Given the description of an element on the screen output the (x, y) to click on. 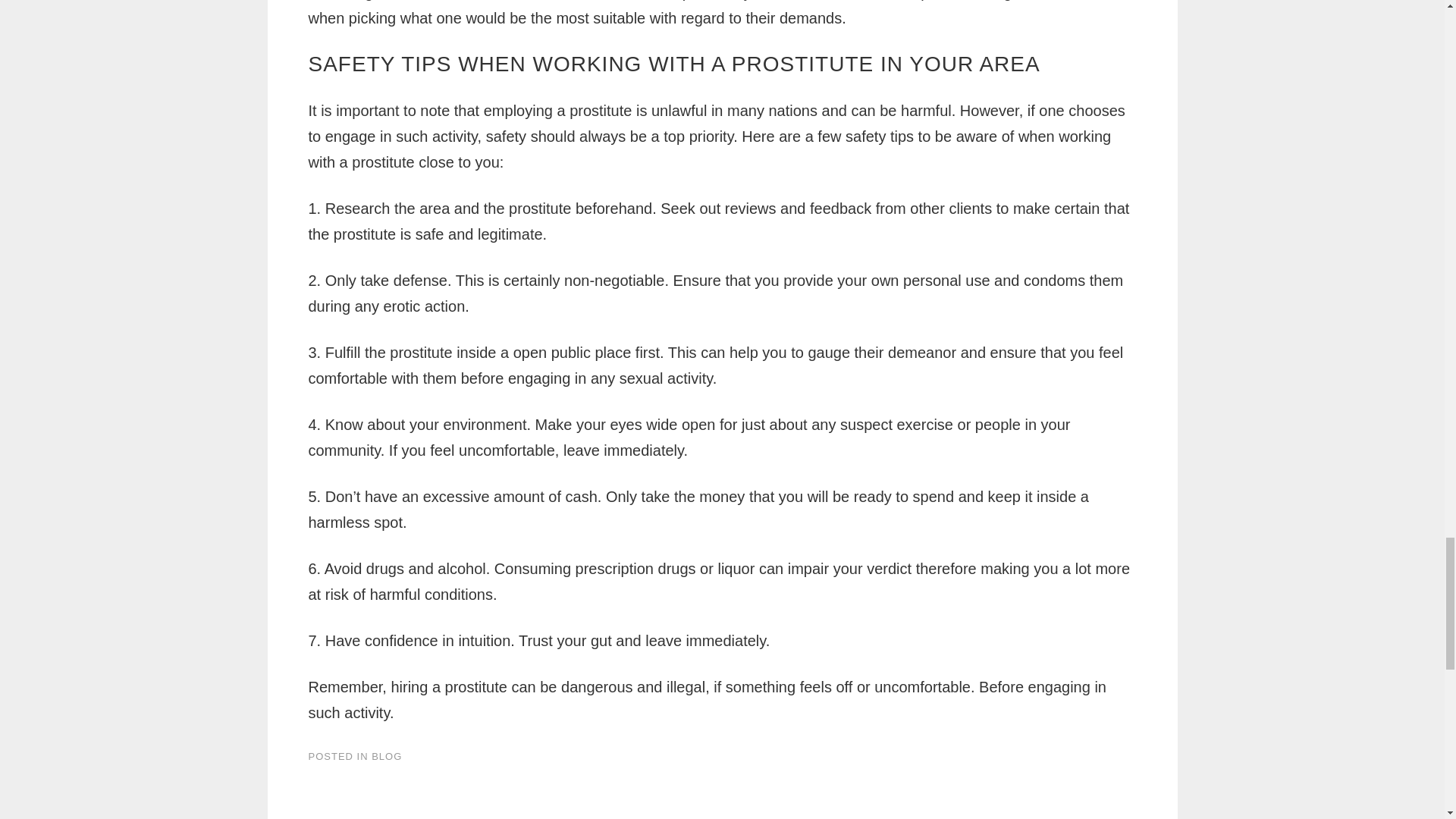
BLOG (386, 756)
